Given the description of an element on the screen output the (x, y) to click on. 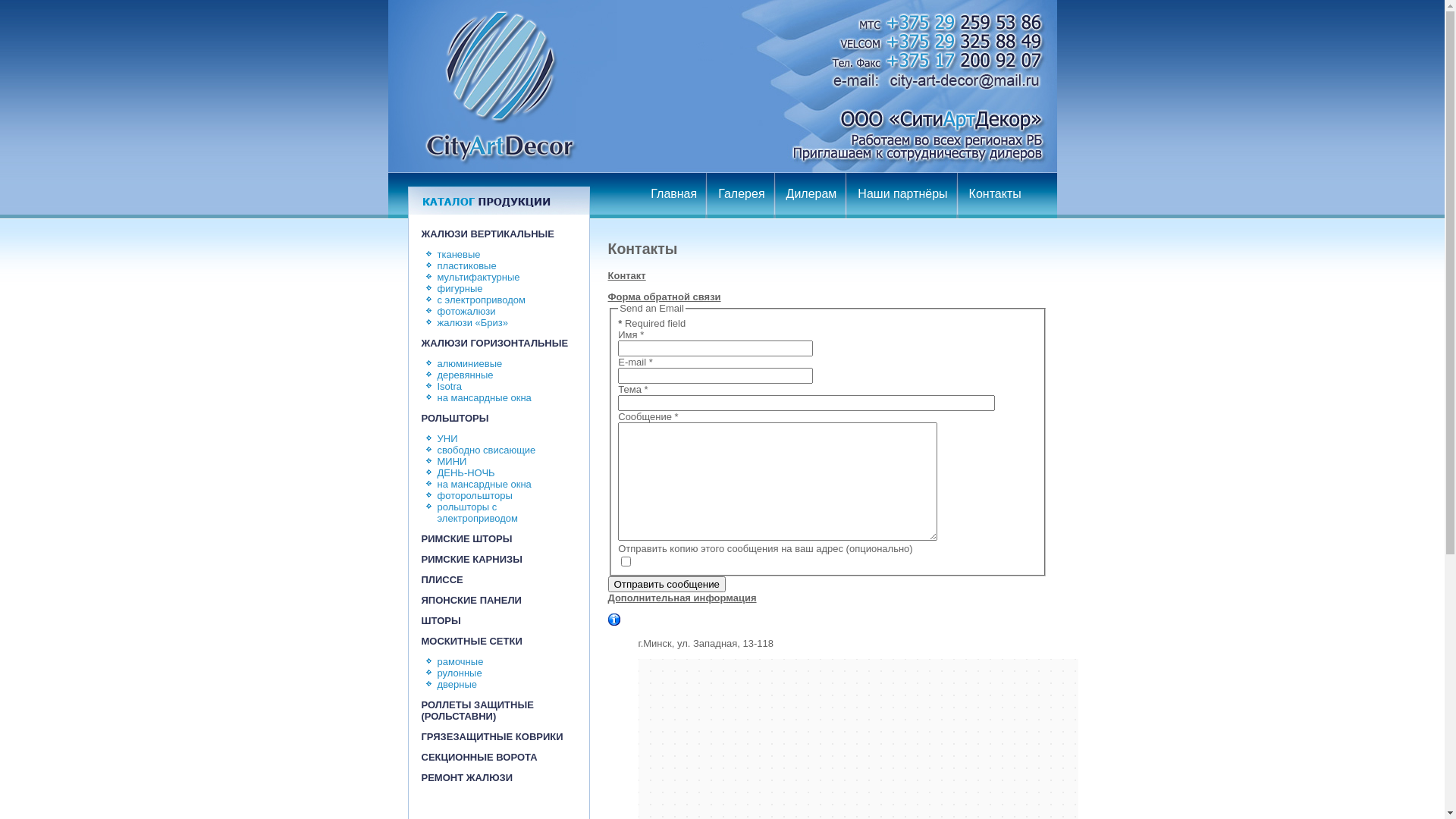
Isotra Element type: text (448, 386)
